Given the description of an element on the screen output the (x, y) to click on. 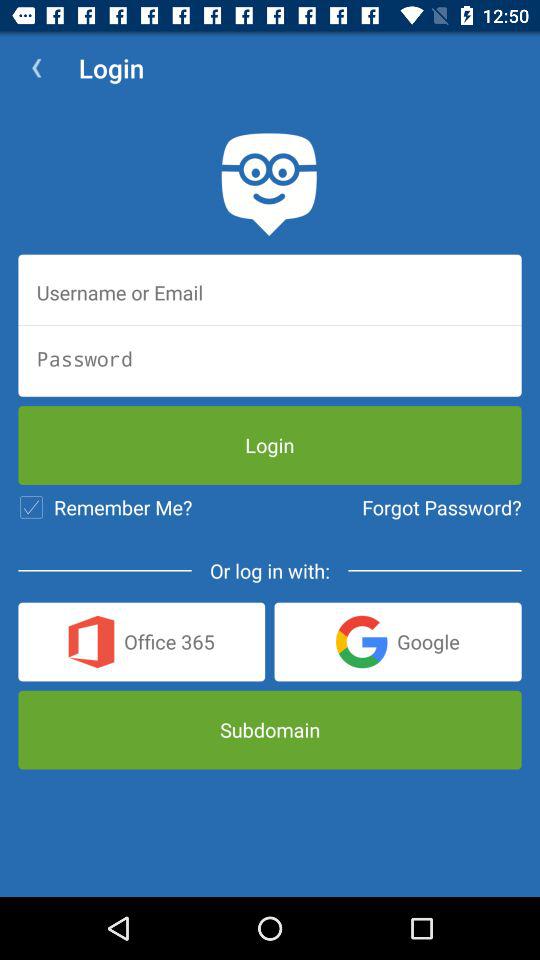
swipe until forgot password? (441, 507)
